Given the description of an element on the screen output the (x, y) to click on. 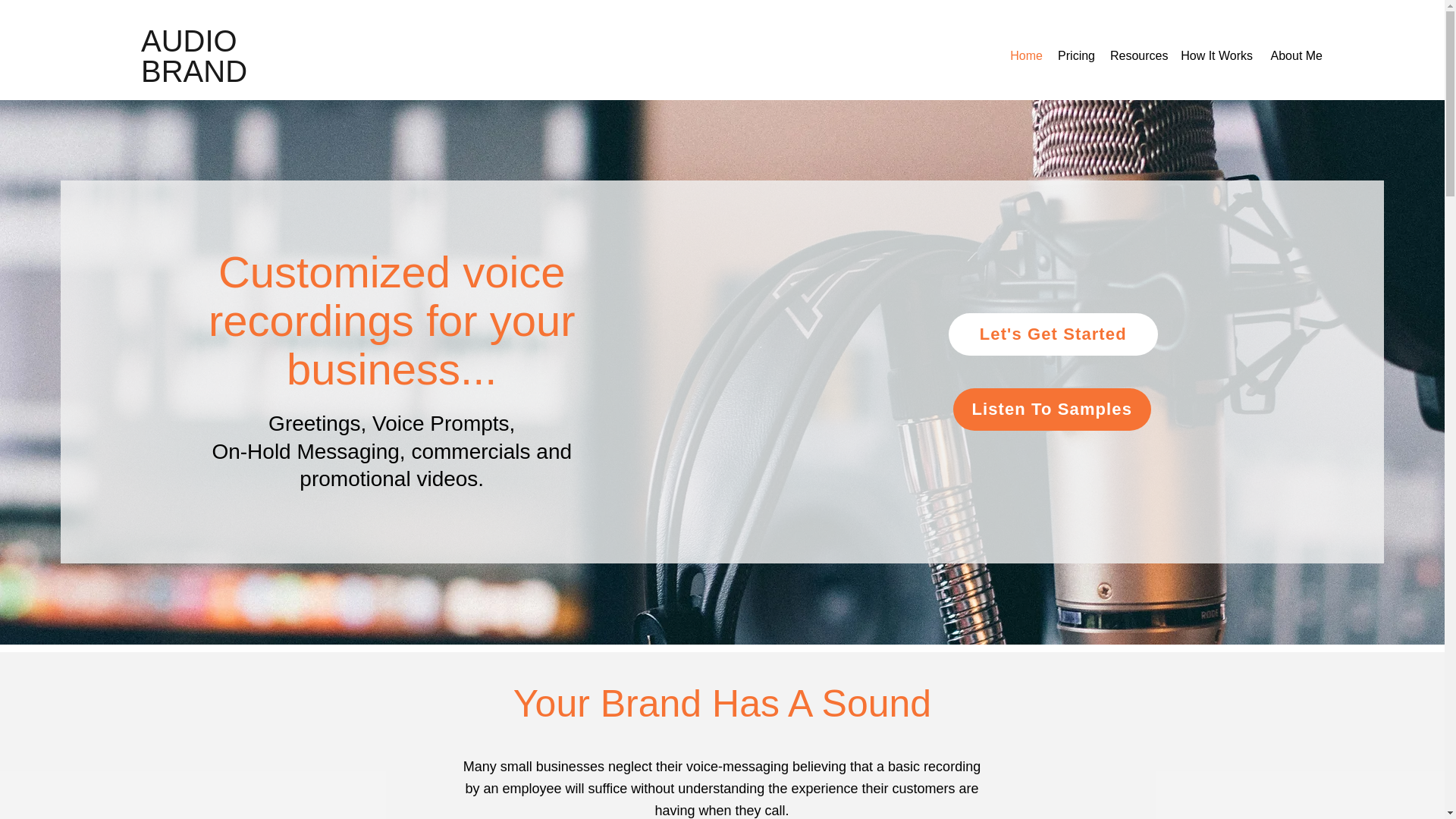
Listen To Samples (1052, 409)
Let's Get Started (1053, 333)
How It Works (1216, 56)
AUDIO BRAND (194, 55)
Home (1025, 56)
About Me (1295, 56)
Pricing (1075, 56)
